Given the description of an element on the screen output the (x, y) to click on. 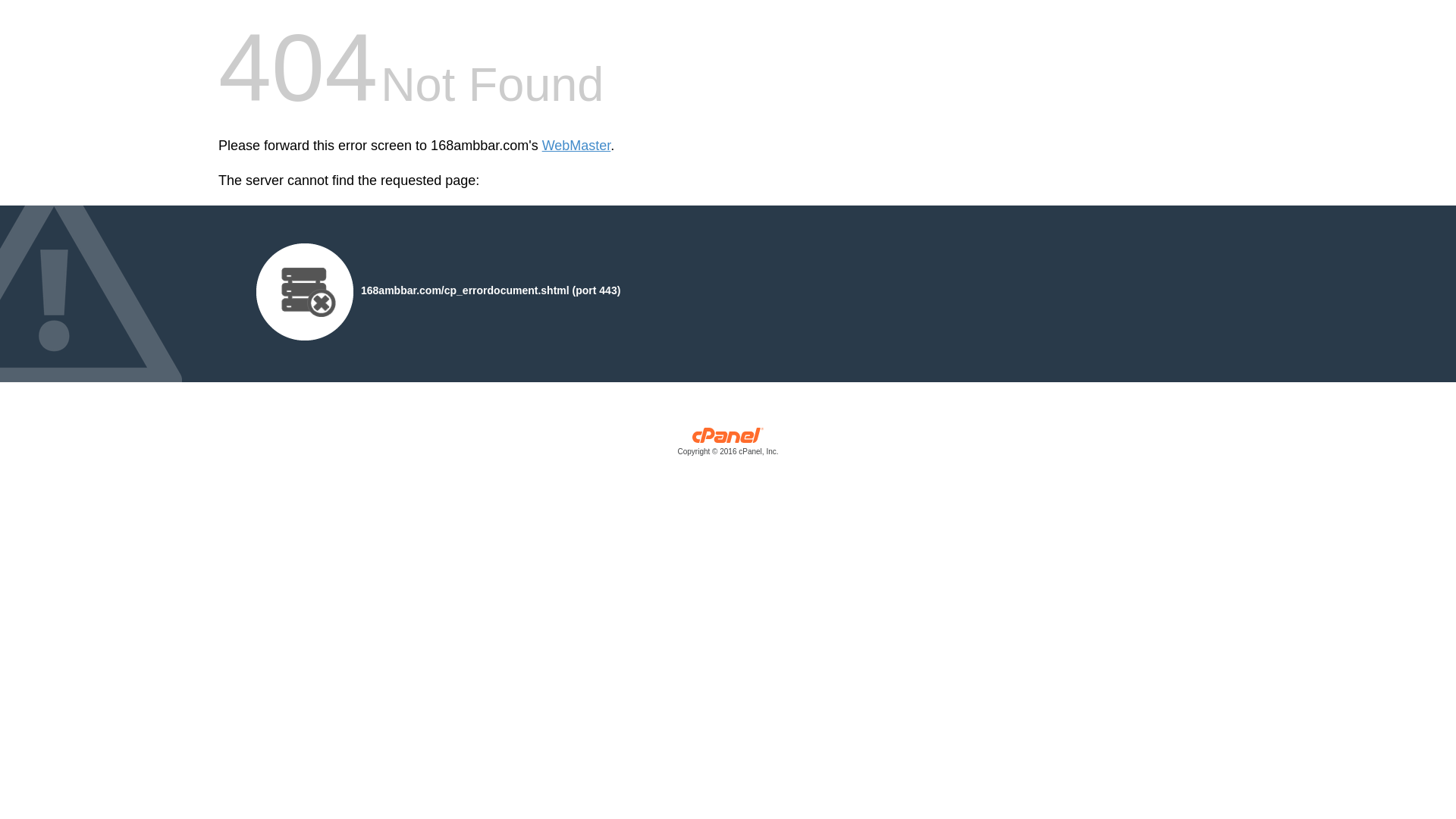
WebMaster Element type: text (576, 145)
